Given the description of an element on the screen output the (x, y) to click on. 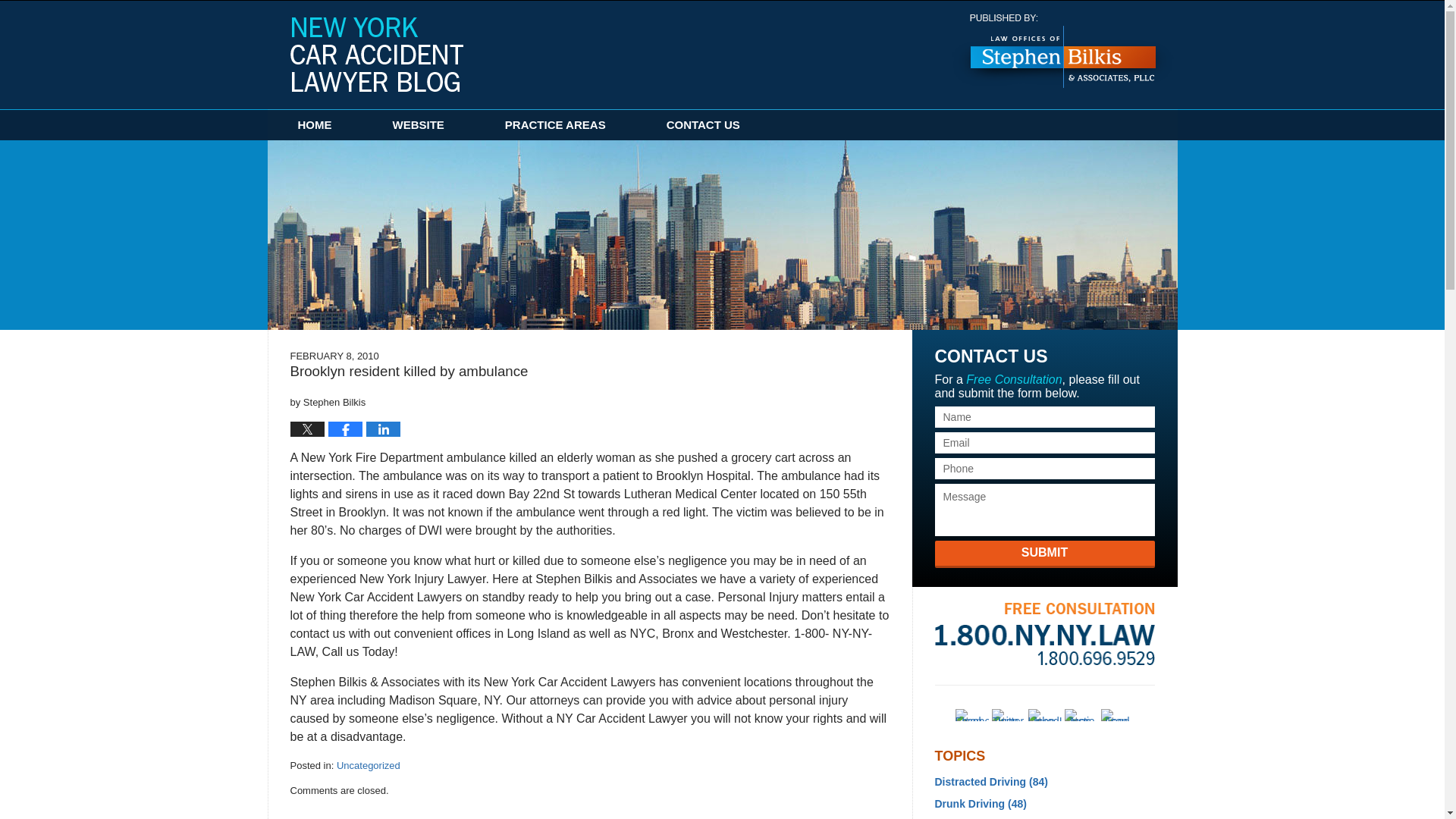
New York Car Accident Lawyer Blog (376, 54)
Justia (1080, 715)
SUBMIT (1044, 554)
Uncategorized (368, 765)
Facebook (971, 715)
WEBSITE (418, 124)
View all posts in Uncategorized (368, 765)
HOME (313, 124)
Feed (1117, 715)
LinkedIn (1044, 715)
